Given the description of an element on the screen output the (x, y) to click on. 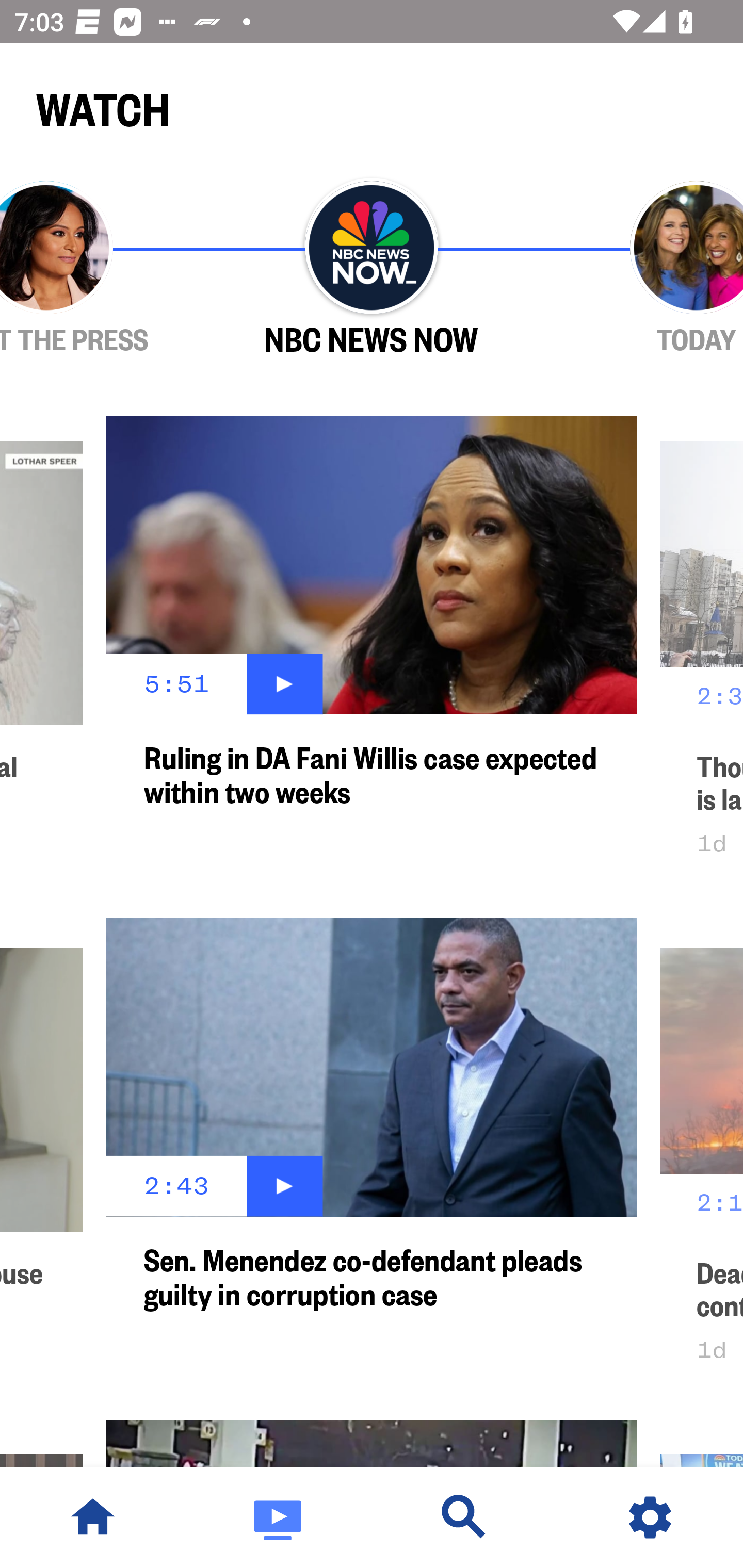
MEET THE PRESS (104, 268)
NBC NEWS NOW (371, 268)
TODAY (638, 268)
NBC News Home (92, 1517)
Discover (464, 1517)
Settings (650, 1517)
